Given the description of an element on the screen output the (x, y) to click on. 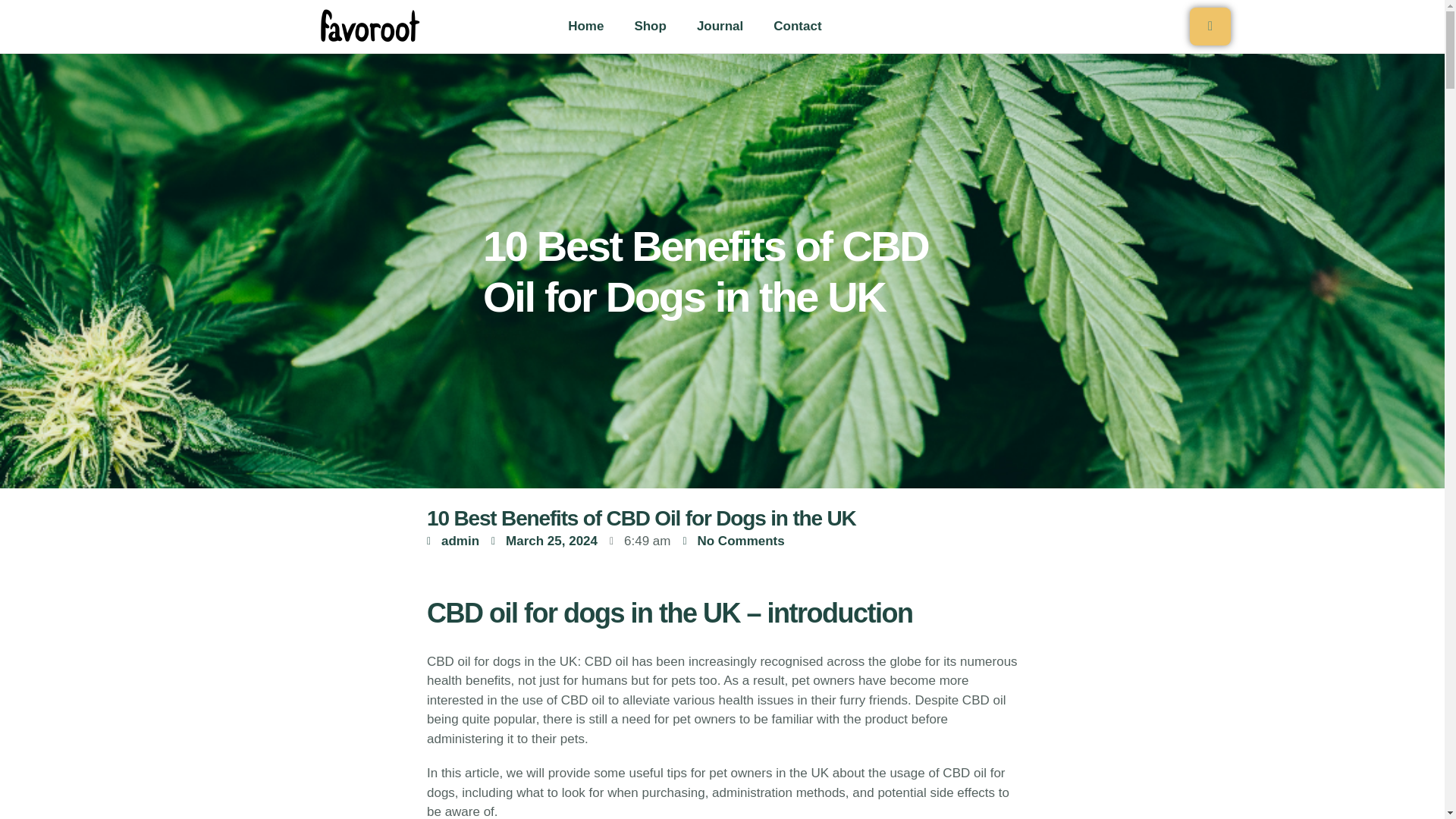
Home (585, 26)
March 25, 2024 (544, 541)
Journal (719, 26)
favoroot logo (368, 26)
admin (452, 541)
Contact (796, 26)
Shop (649, 26)
No Comments (733, 541)
